Given the description of an element on the screen output the (x, y) to click on. 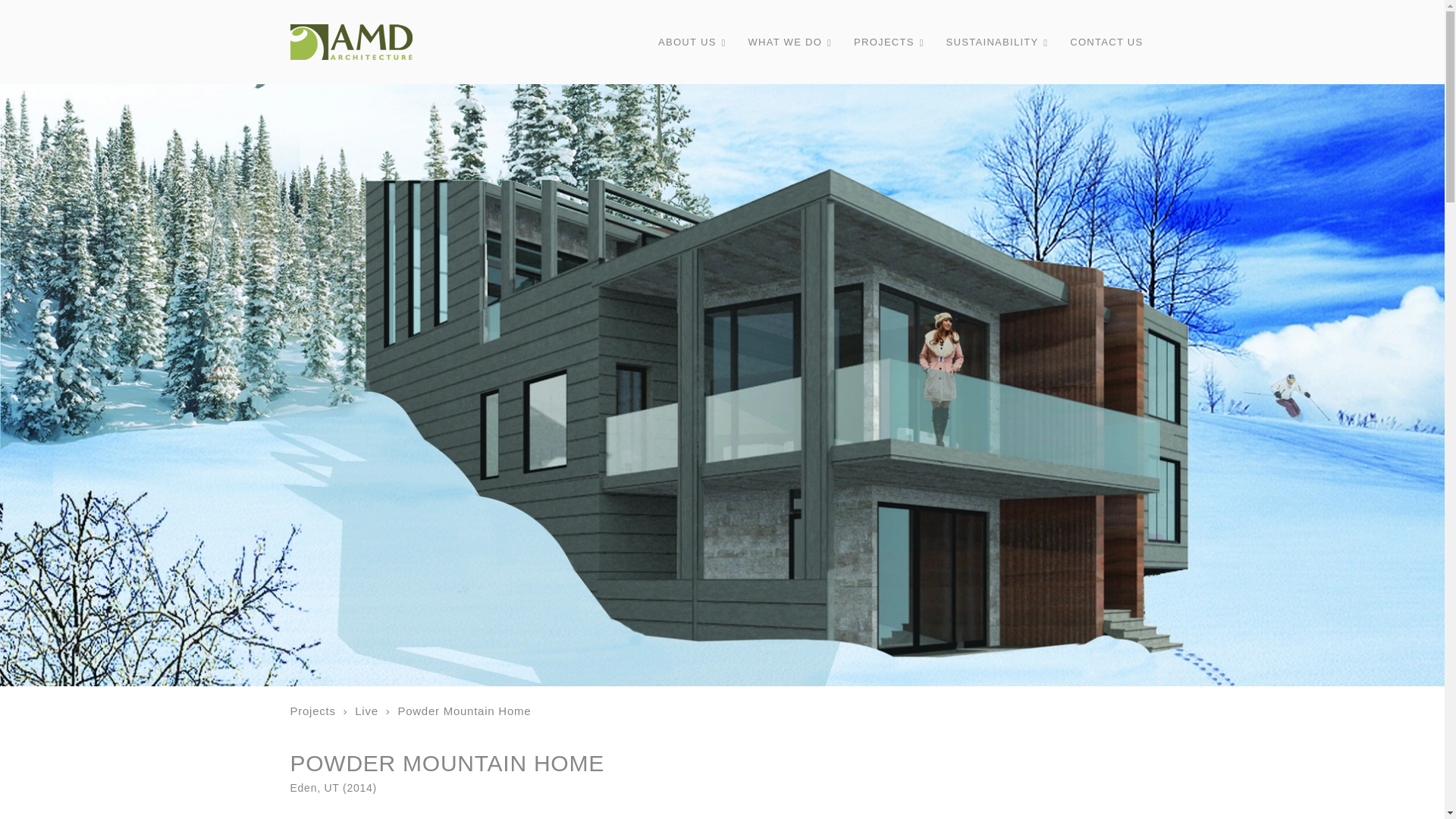
Live (366, 710)
Projects (311, 710)
SUSTAINABILITY (994, 42)
PROJECTS (887, 42)
CONTACT US (1106, 42)
WHAT WE DO (787, 42)
ABOUT US (689, 42)
